Given the description of an element on the screen output the (x, y) to click on. 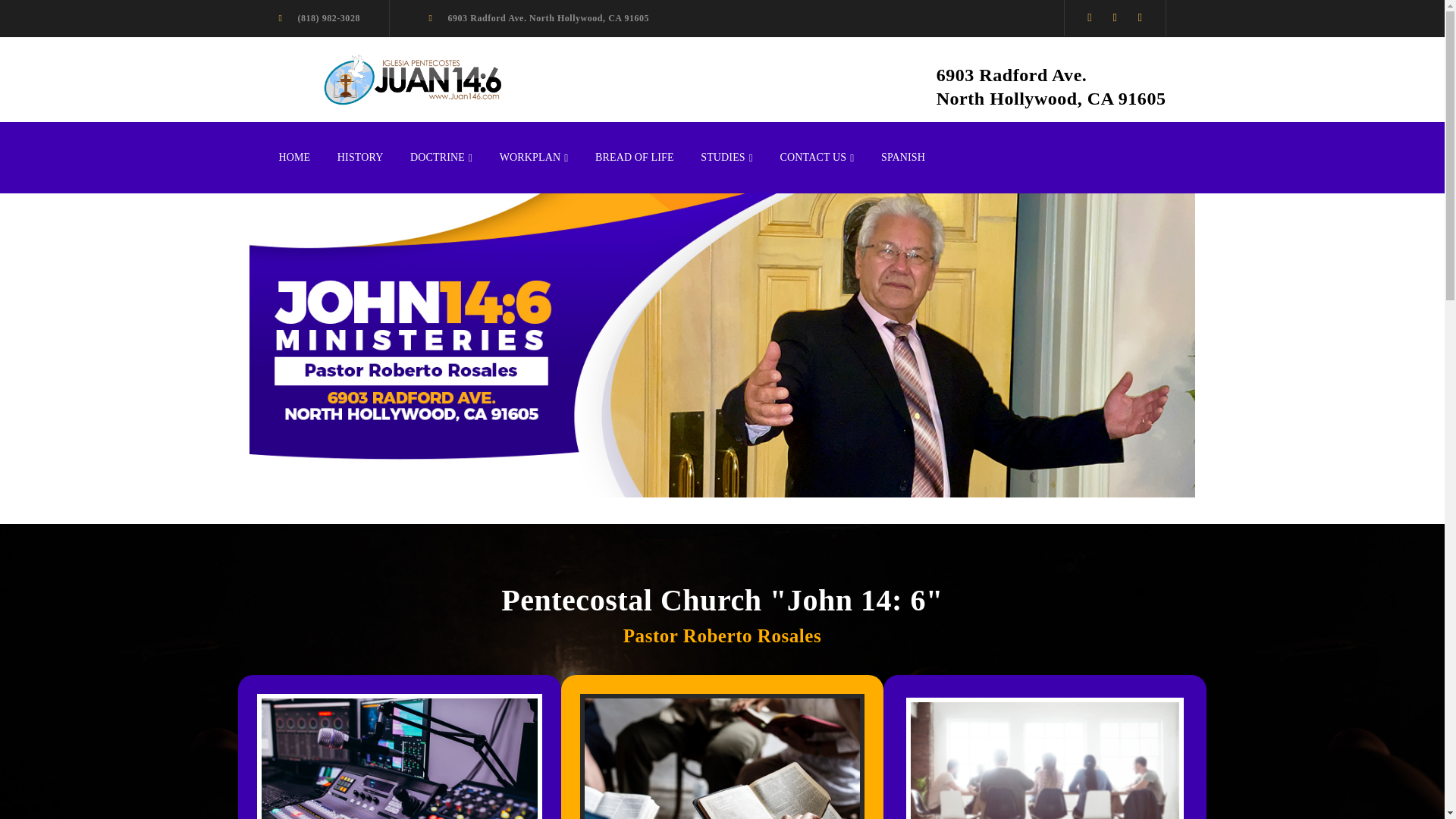
Para Tu Ministerio (399, 758)
WORKPLAN (534, 157)
DOCTRINE (440, 157)
Spanish (902, 157)
Para Tu Ministerio (722, 758)
SPANISH (902, 157)
Iglesia Juan 146-Pastor Rosales y Hna. Patty (412, 77)
Para Tu Ministerio (1045, 760)
HISTORY (360, 157)
STUDIES (726, 157)
BREAD OF LIFE (634, 157)
CONTACT US (817, 157)
HOME (295, 157)
